Given the description of an element on the screen output the (x, y) to click on. 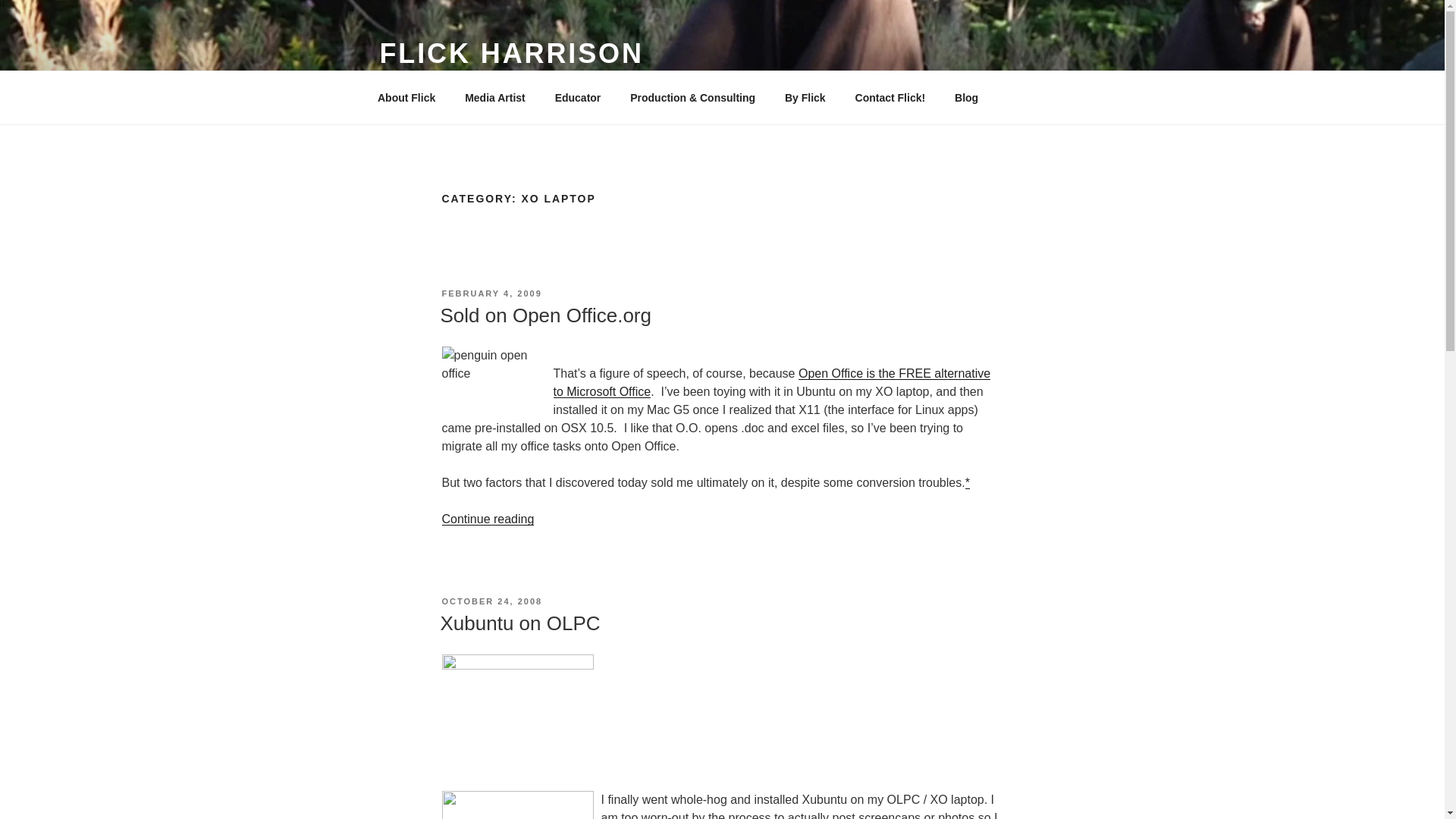
FEBRUARY 4, 2009 (491, 293)
FLICK HARRISON (510, 52)
penguin (487, 377)
By Flick (804, 97)
Open Office is the FREE alternative to Microsoft Office (772, 382)
About Flick (406, 97)
Xubuntu on OLPC (519, 622)
Sold on Open Office.org (544, 314)
Blog (966, 97)
OCTOBER 24, 2008 (491, 601)
open office (772, 382)
Contact Flick! (890, 97)
Educator (577, 97)
Media Artist (494, 97)
